Given the description of an element on the screen output the (x, y) to click on. 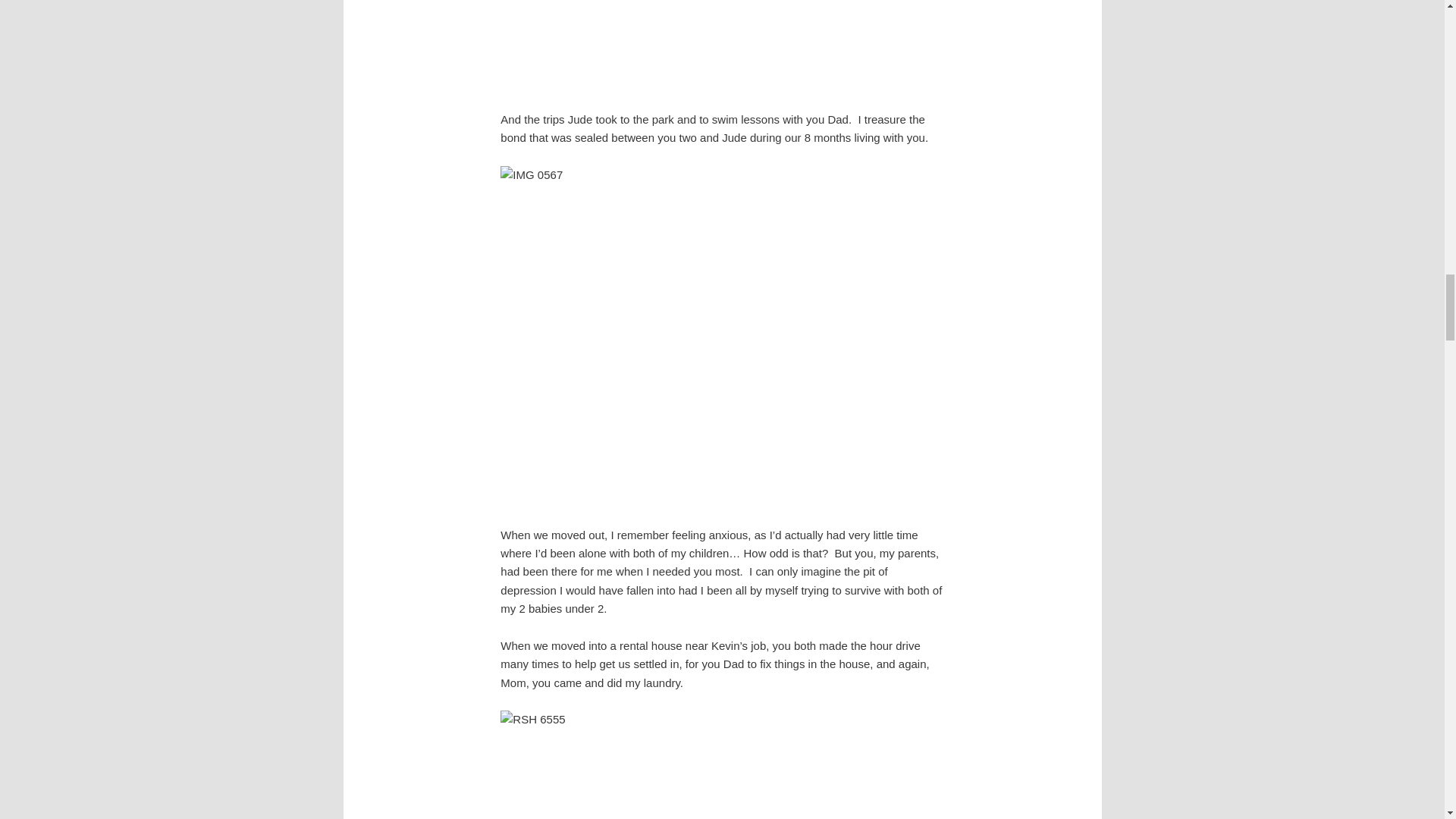
P1010516.jpg (721, 46)
